Given the description of an element on the screen output the (x, y) to click on. 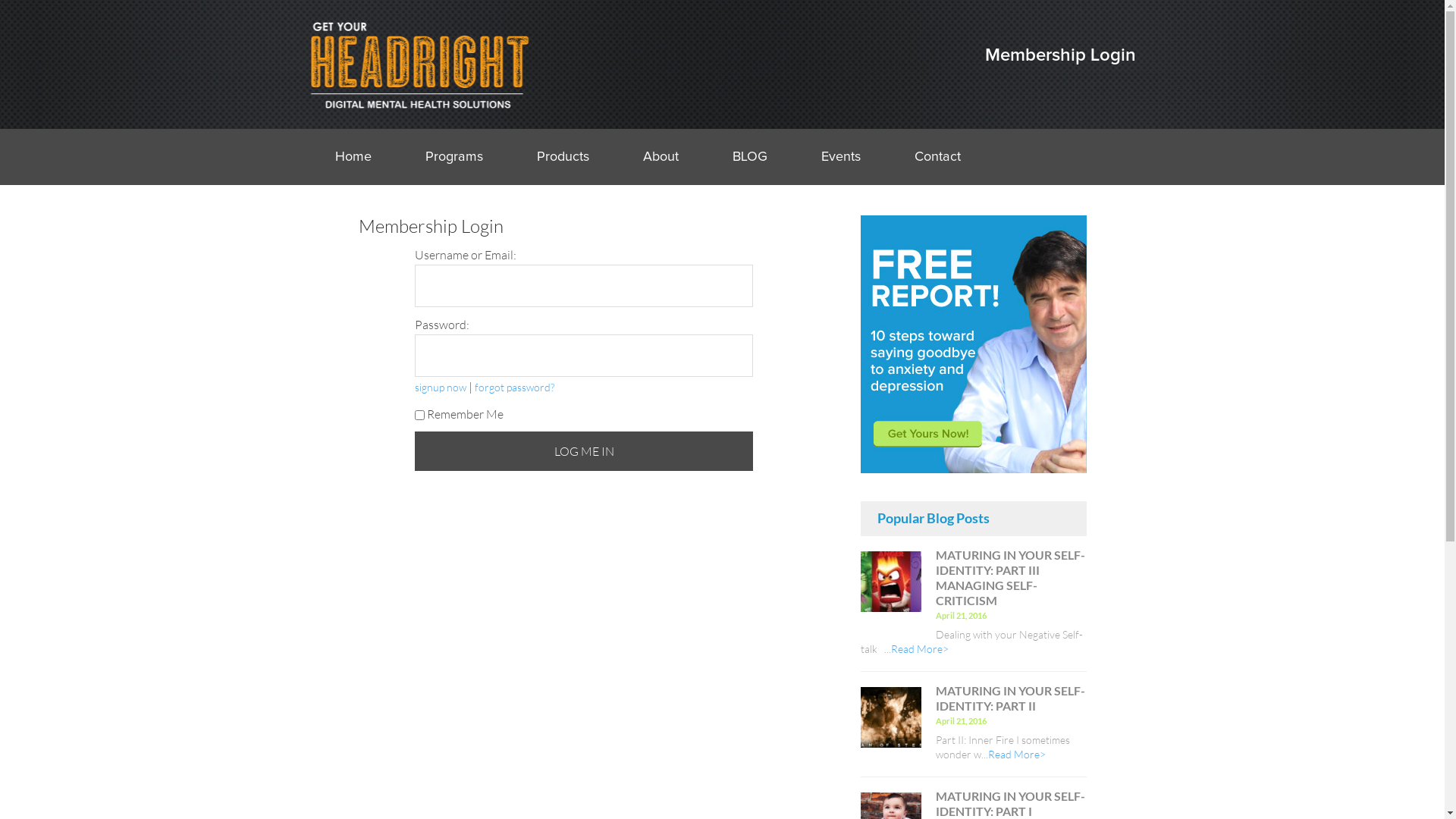
Events Element type: text (839, 156)
Read More> Element type: text (1015, 753)
Username Element type: hover (583, 285)
MATURING IN YOUR SELF-IDENTITY: PART I Element type: text (1010, 803)
Contact Element type: text (937, 156)
forgot password? Element type: text (514, 386)
About Element type: text (660, 156)
BLOG Element type: text (749, 156)
Log Me In Element type: text (583, 450)
MATURING IN YOUR SELF-IDENTITY: PART II Element type: text (1010, 697)
Get Your Head Right Element type: text (419, 64)
Password Element type: hover (583, 355)
Membership Login Element type: text (1059, 55)
Programs Element type: text (453, 156)
signup now Element type: text (440, 386)
Products Element type: text (562, 156)
Home Element type: text (353, 156)
Read More> Element type: text (918, 648)
MATURING IN YOUR SELF-IDENTITY: PART II Element type: hover (889, 717)
